Given the description of an element on the screen output the (x, y) to click on. 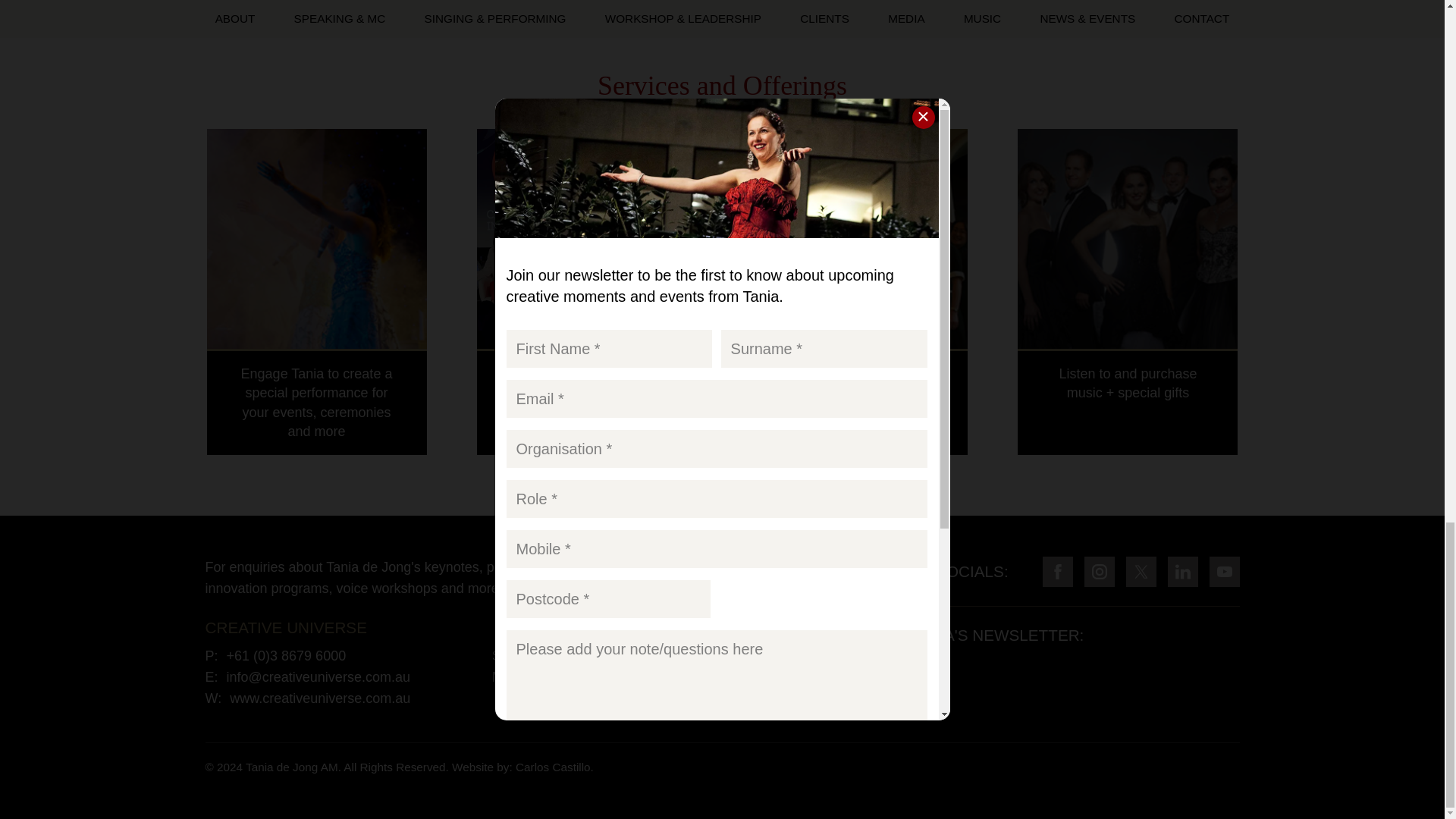
Connect with Tania on Instagram (1099, 571)
